Given the description of an element on the screen output the (x, y) to click on. 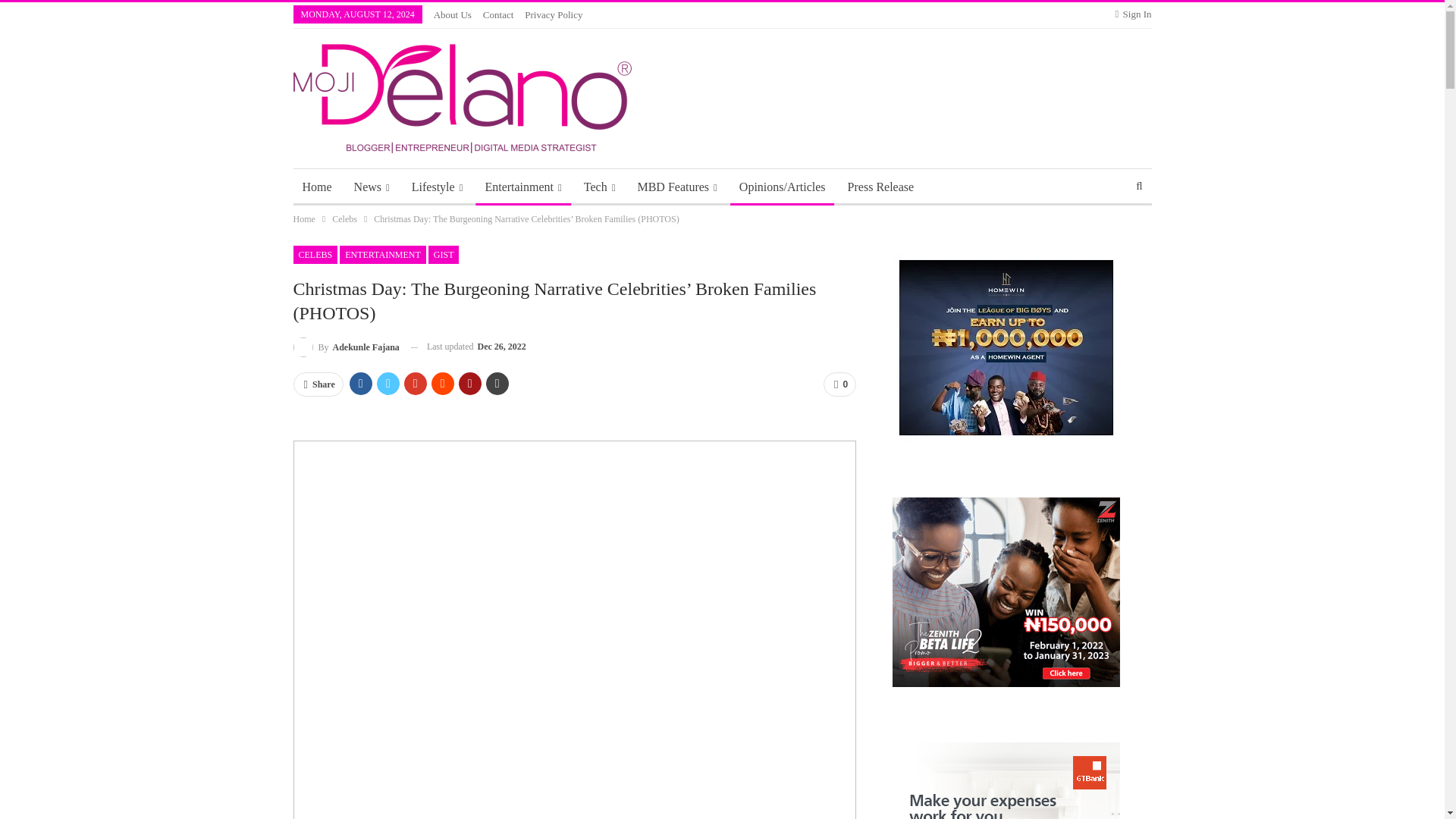
By Adekunle Fajana (345, 346)
News (371, 186)
MBD Features (676, 186)
ENTERTAINMENT (382, 254)
Contact (498, 14)
Home (303, 218)
Tech (599, 186)
Sign In (1133, 13)
Home (316, 186)
About Us (452, 14)
